Given the description of an element on the screen output the (x, y) to click on. 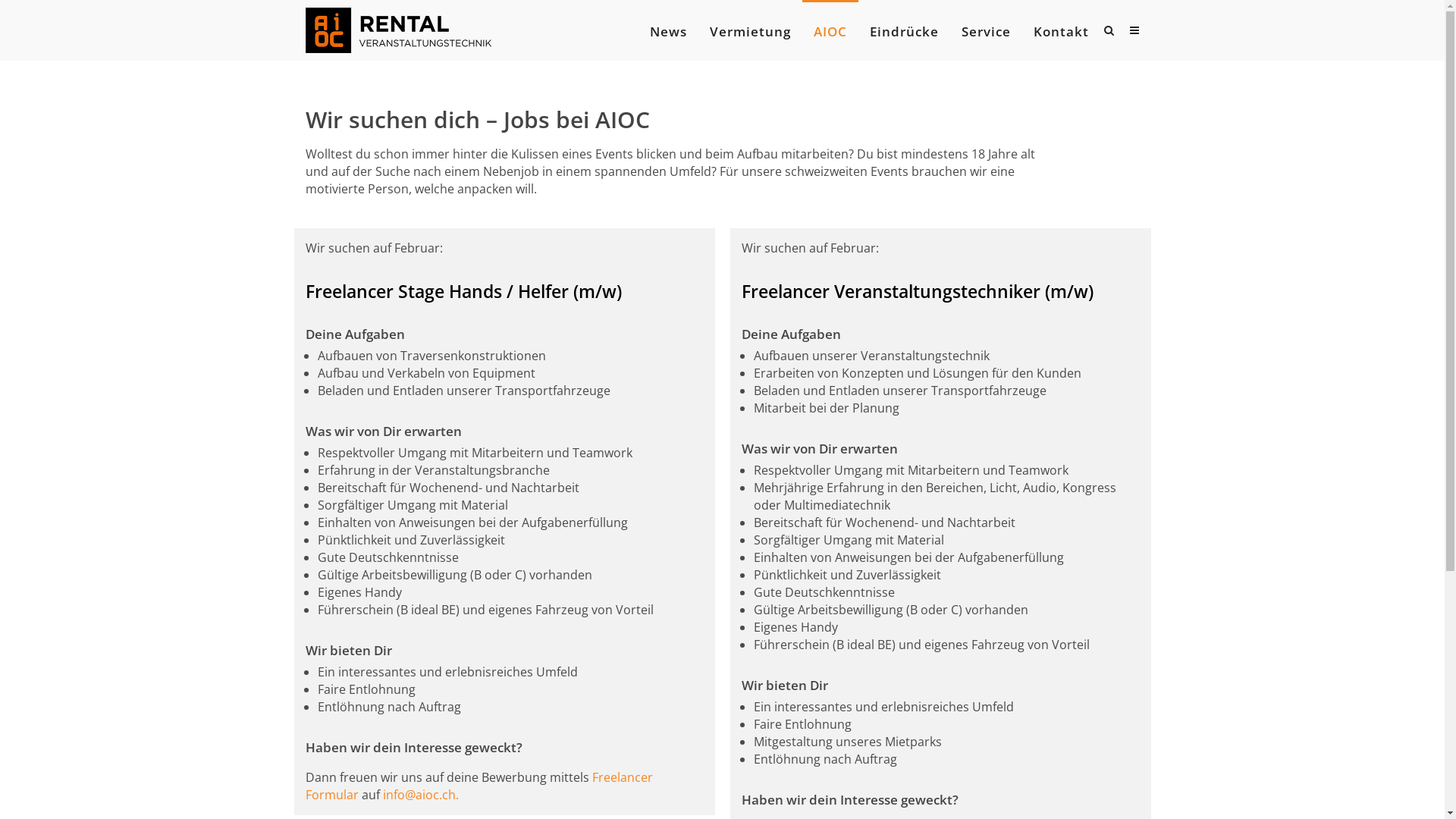
Vermietung Element type: text (749, 31)
AIOC Element type: text (829, 31)
info@aioc.ch. Element type: text (420, 794)
Kontakt Element type: text (1060, 31)
Service Element type: text (985, 31)
Freelancer Formular Element type: text (478, 785)
News Element type: text (667, 31)
